Given the description of an element on the screen output the (x, y) to click on. 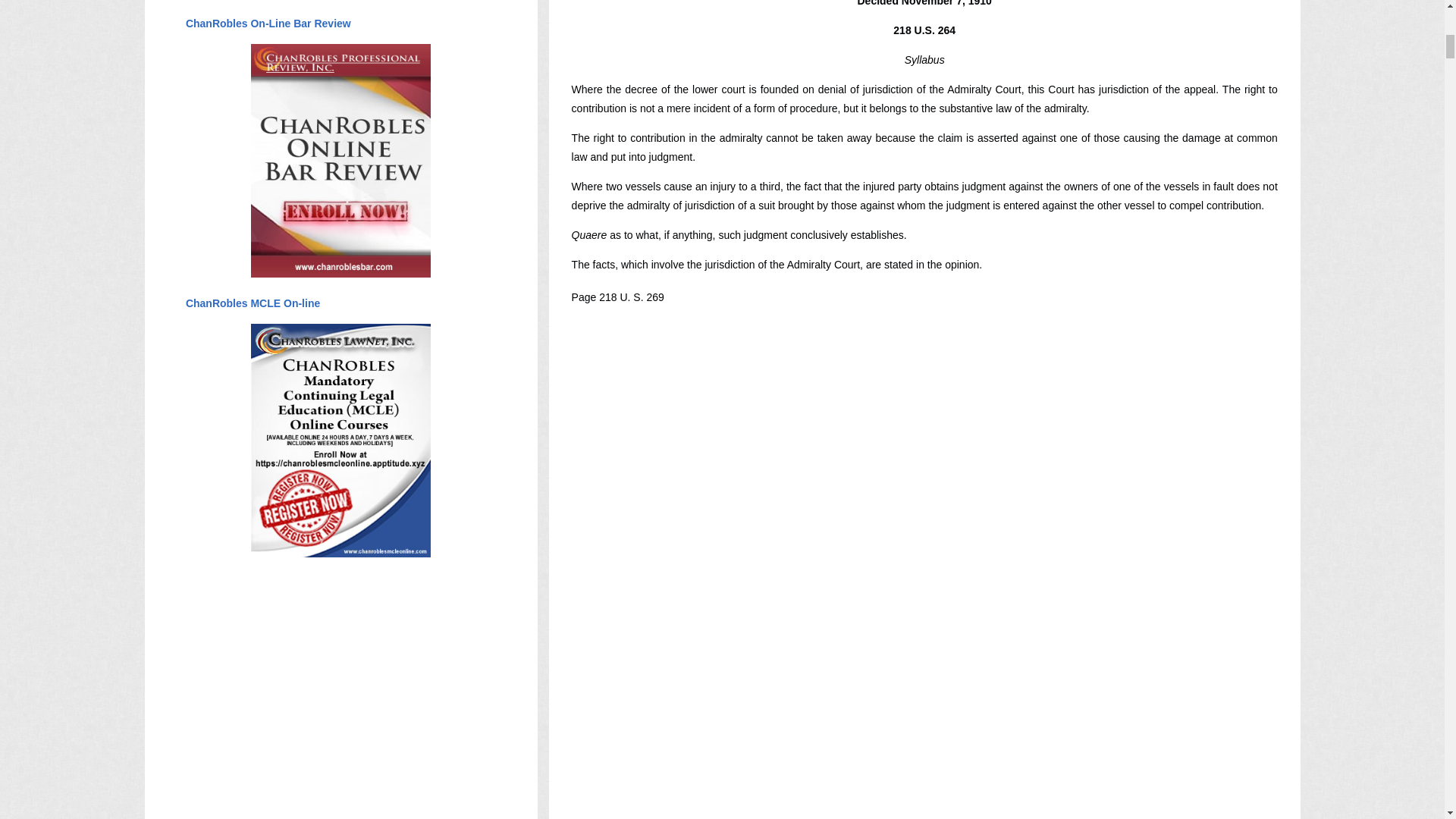
Page 218 U. S. 269 (617, 297)
ChanRobles On-Line Bar Review (268, 23)
ChanRobles MCLE On-line (252, 303)
